Given the description of an element on the screen output the (x, y) to click on. 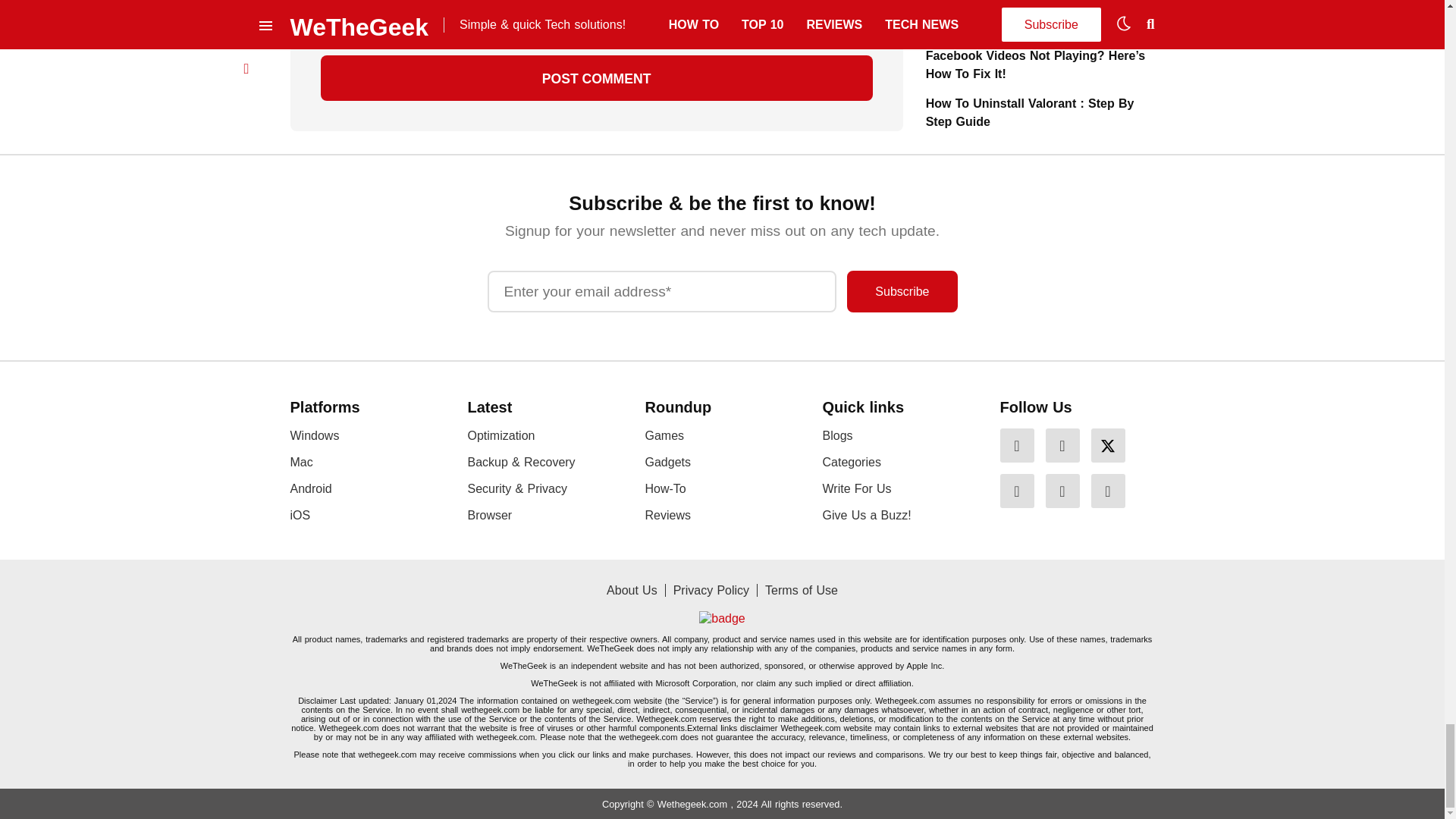
Subscribe (901, 291)
Post Comment (596, 77)
yes (325, 22)
